Given the description of an element on the screen output the (x, y) to click on. 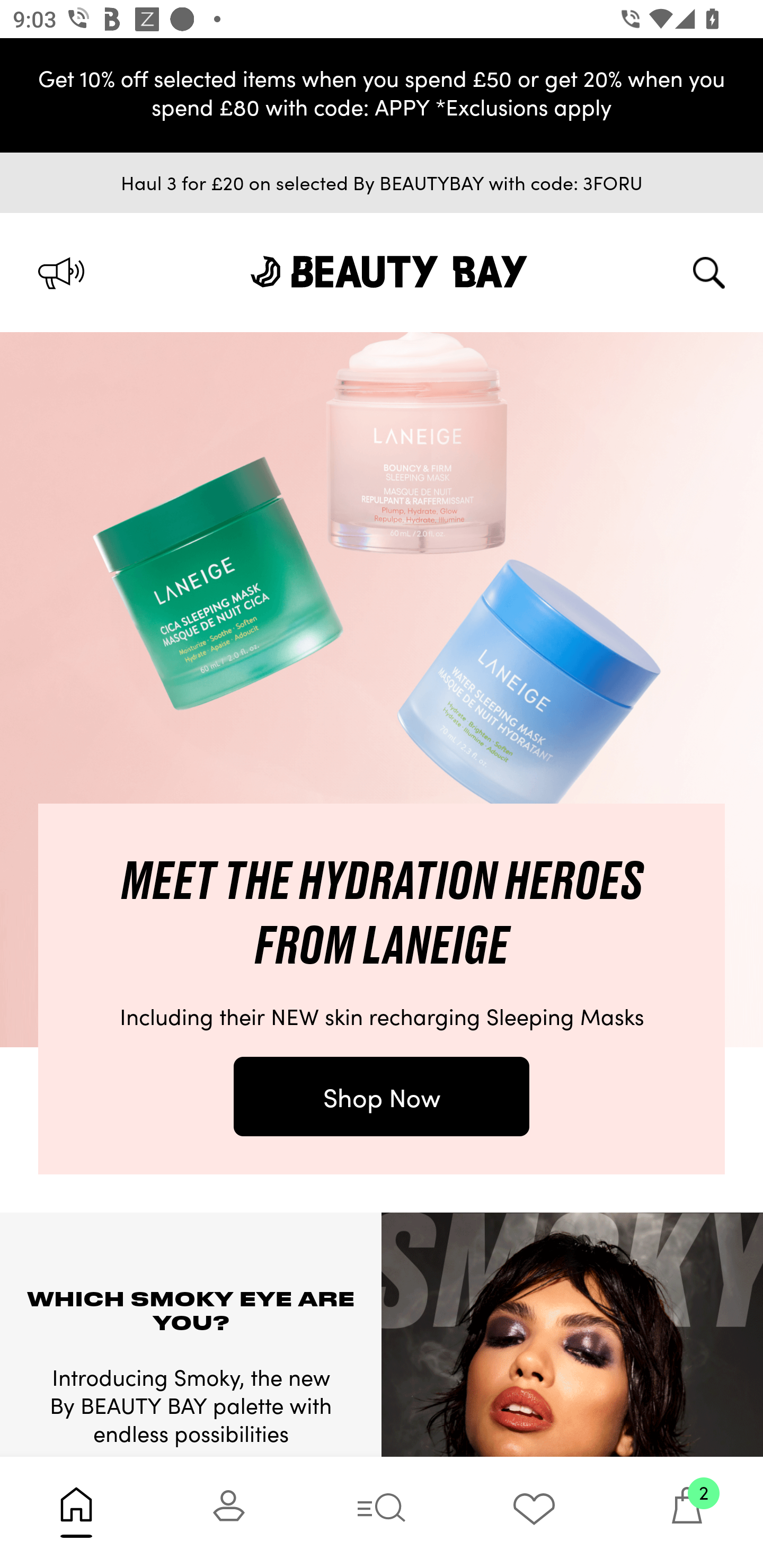
2 (686, 1512)
